Given the description of an element on the screen output the (x, y) to click on. 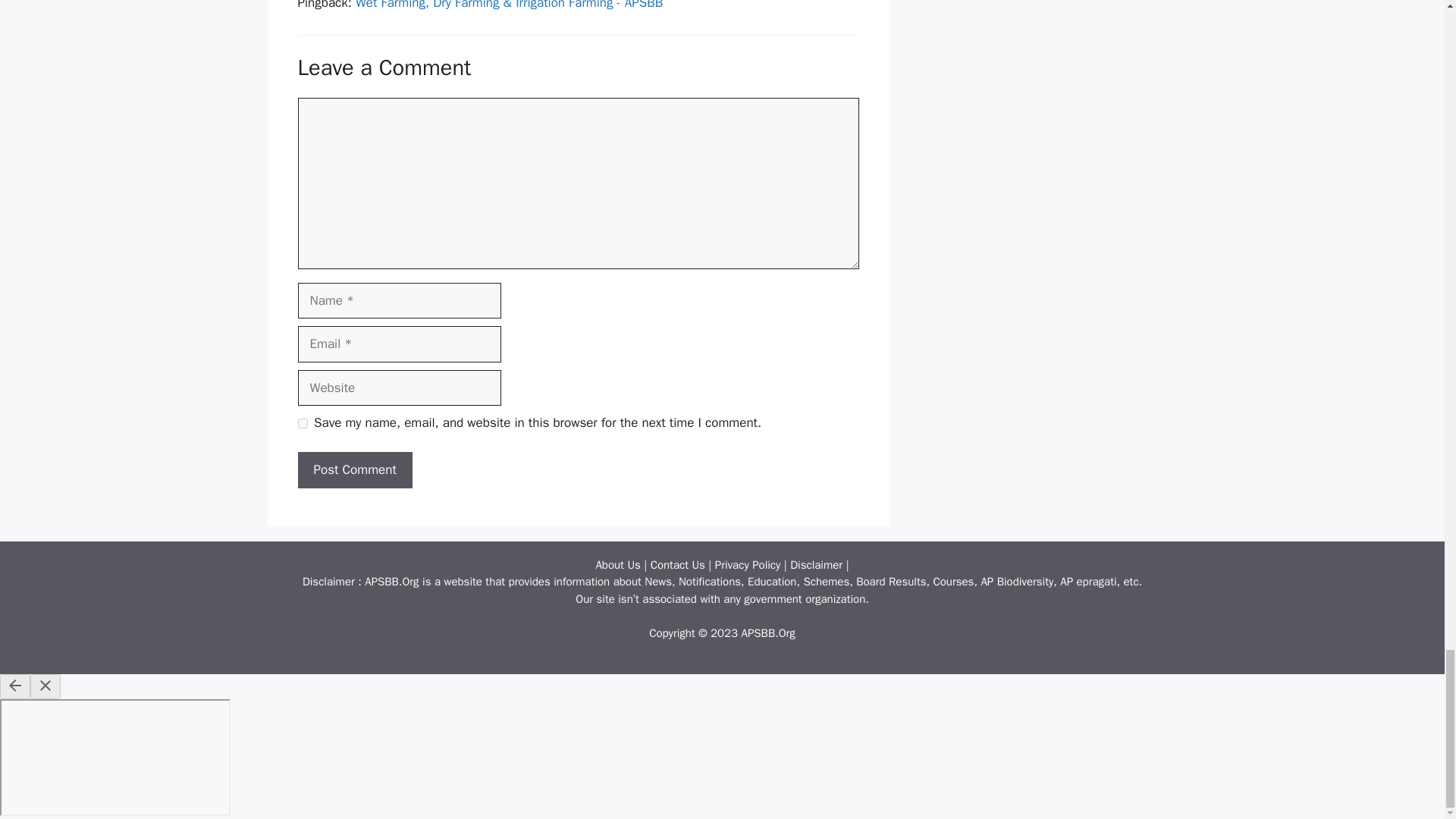
yes (302, 423)
Post Comment (354, 470)
Post Comment (354, 470)
Disclaimer (816, 564)
APSBB.Org (767, 632)
Privacy Policy (747, 564)
Contact Us (677, 564)
About Us (617, 564)
